Given the description of an element on the screen output the (x, y) to click on. 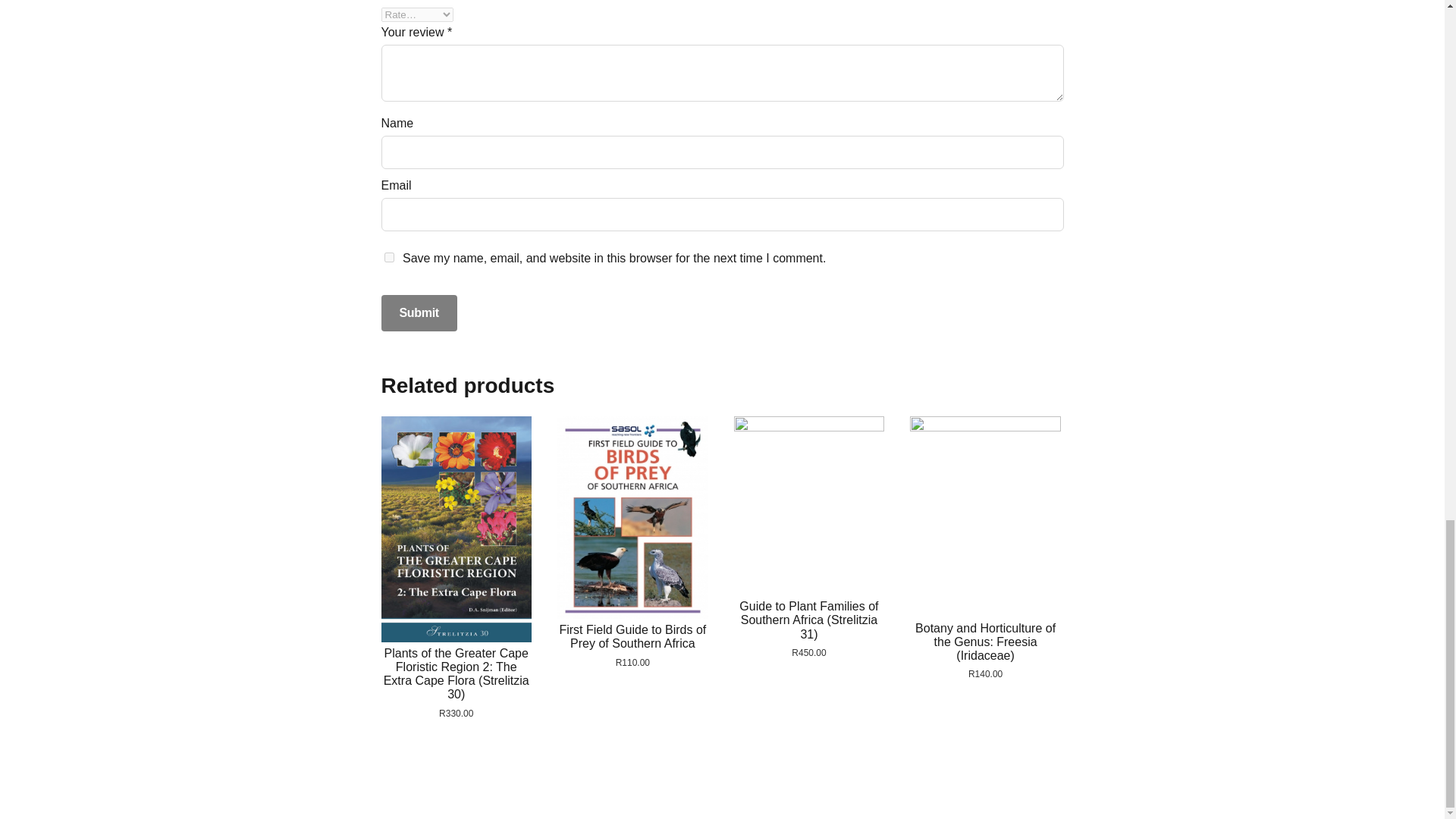
Submit (418, 312)
yes (388, 257)
Submit (418, 312)
